Given the description of an element on the screen output the (x, y) to click on. 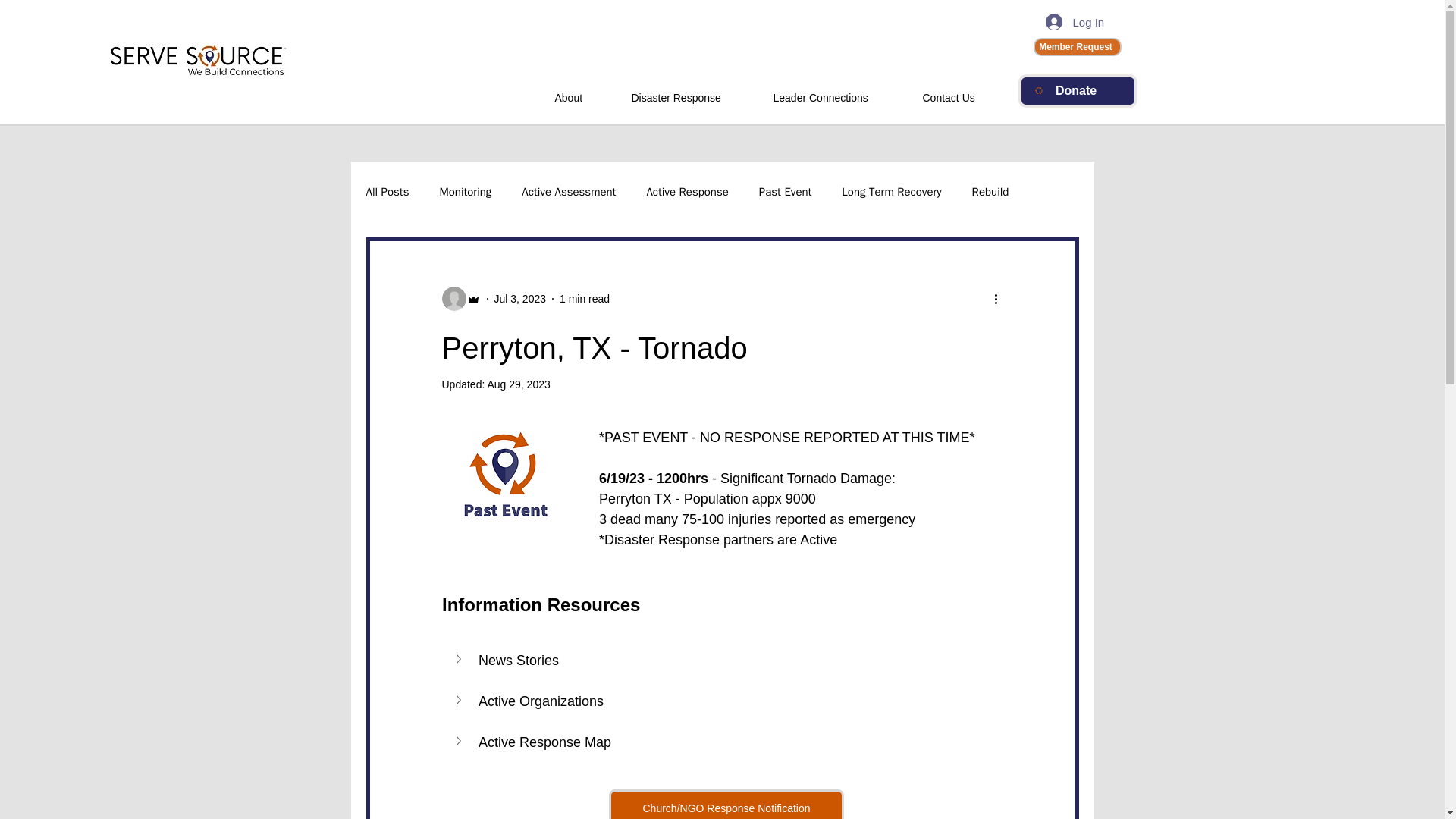
Donate (1077, 90)
Active Assessment (568, 192)
Jul 3, 2023 (521, 298)
Monitoring (465, 192)
Rebuild (990, 192)
Long Term Recovery (890, 192)
About (579, 90)
Log In (1058, 22)
Past Event (785, 192)
Contact Us (959, 90)
Disaster Response (687, 90)
Active Response (687, 192)
Member Request (1076, 46)
Aug 29, 2023 (518, 384)
Connection Collaborater Serve (197, 60)
